Given the description of an element on the screen output the (x, y) to click on. 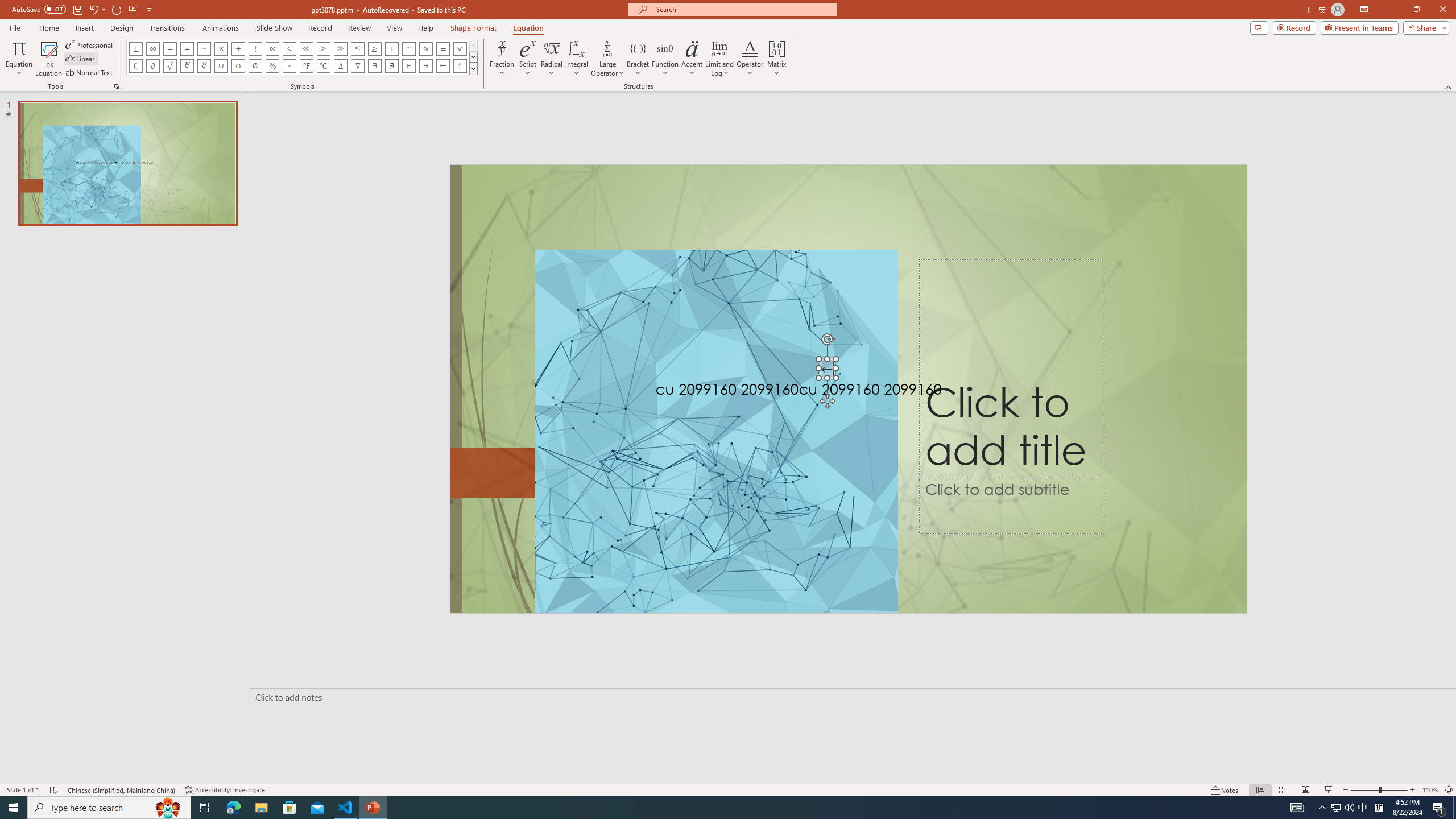
Equation Symbol Cube Root (187, 65)
Accent (691, 58)
Equation Symbol Fourth Root (203, 65)
Equation Symbol There Does Not Exist (391, 65)
Equation Symbol Approximately (203, 48)
Radical (552, 58)
Equation Symbol Contains as Member (425, 65)
